Given the description of an element on the screen output the (x, y) to click on. 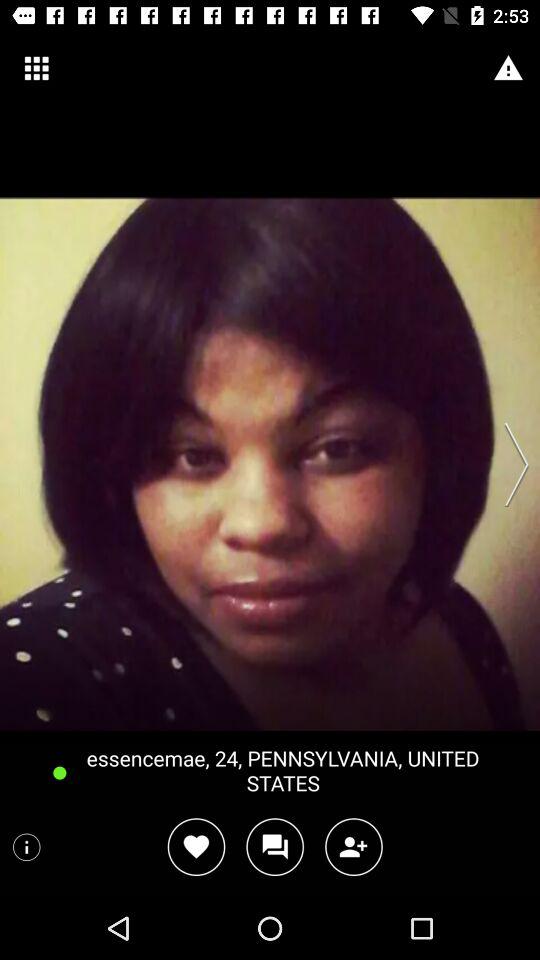
message user (274, 846)
